Given the description of an element on the screen output the (x, y) to click on. 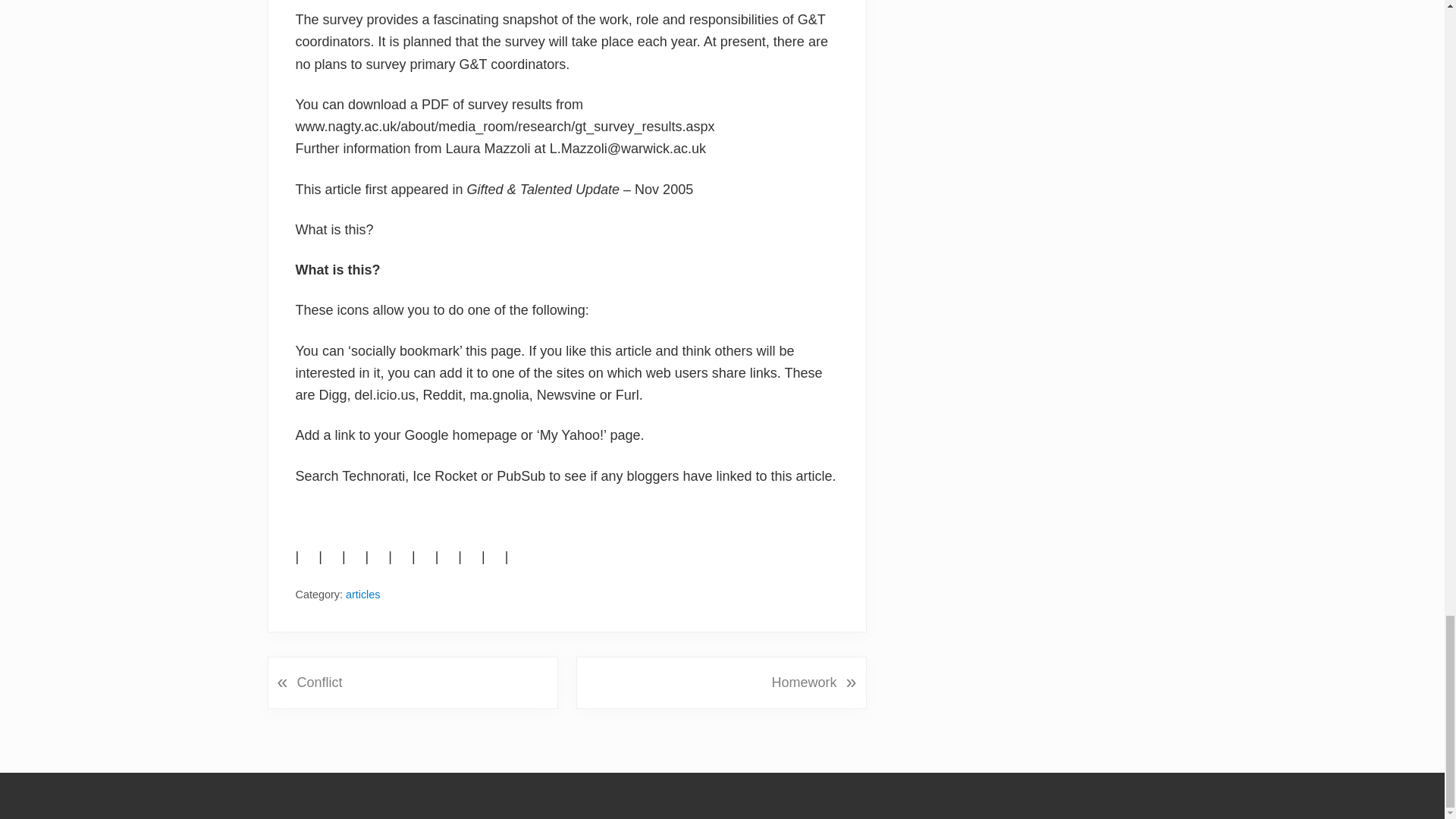
articles (363, 594)
